Given the description of an element on the screen output the (x, y) to click on. 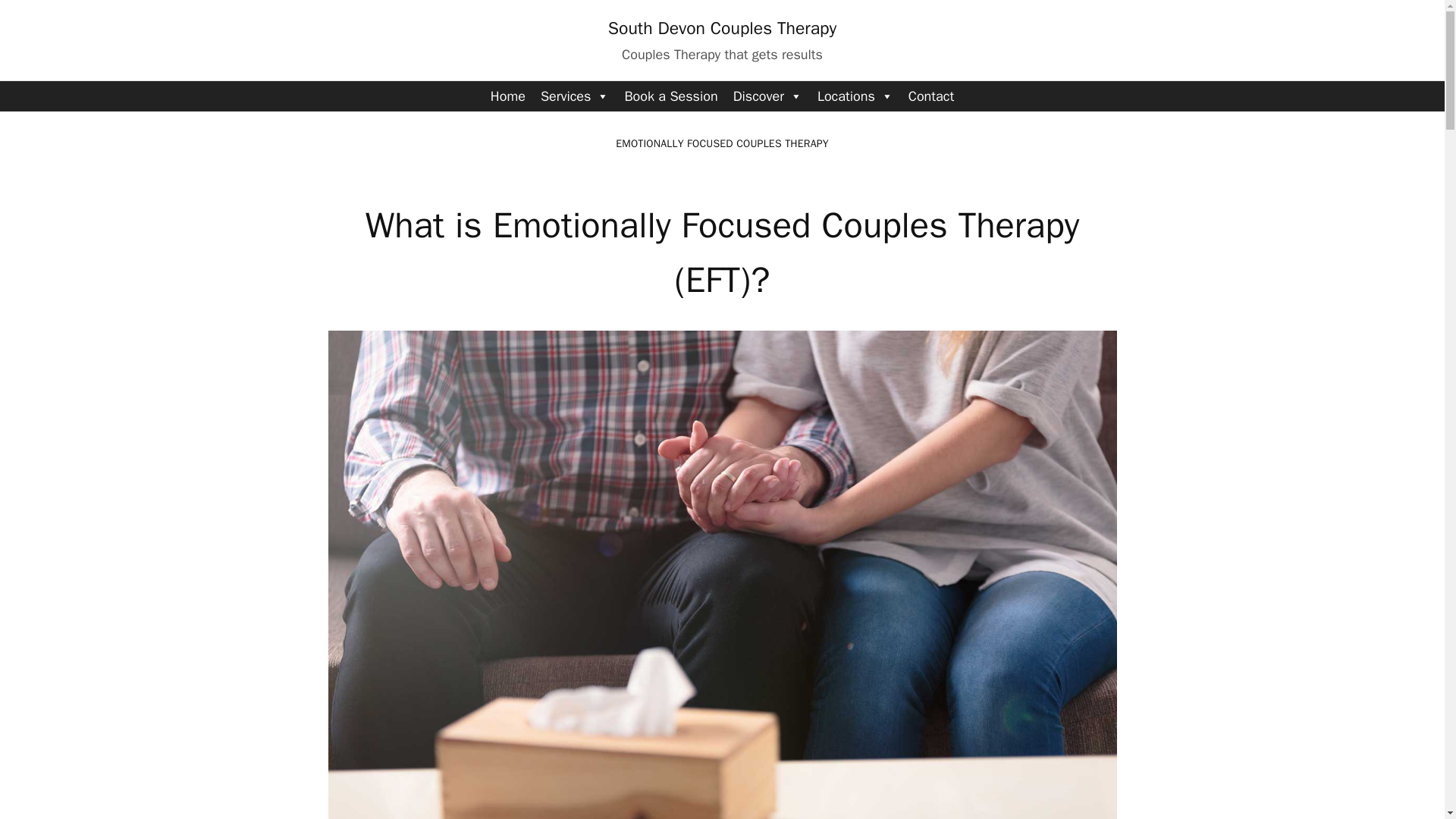
Discover (767, 96)
Contact (930, 96)
Home (507, 96)
Services (574, 96)
Book a Session (670, 96)
South Devon Couples Therapy (721, 28)
Locations (855, 96)
